Given the description of an element on the screen output the (x, y) to click on. 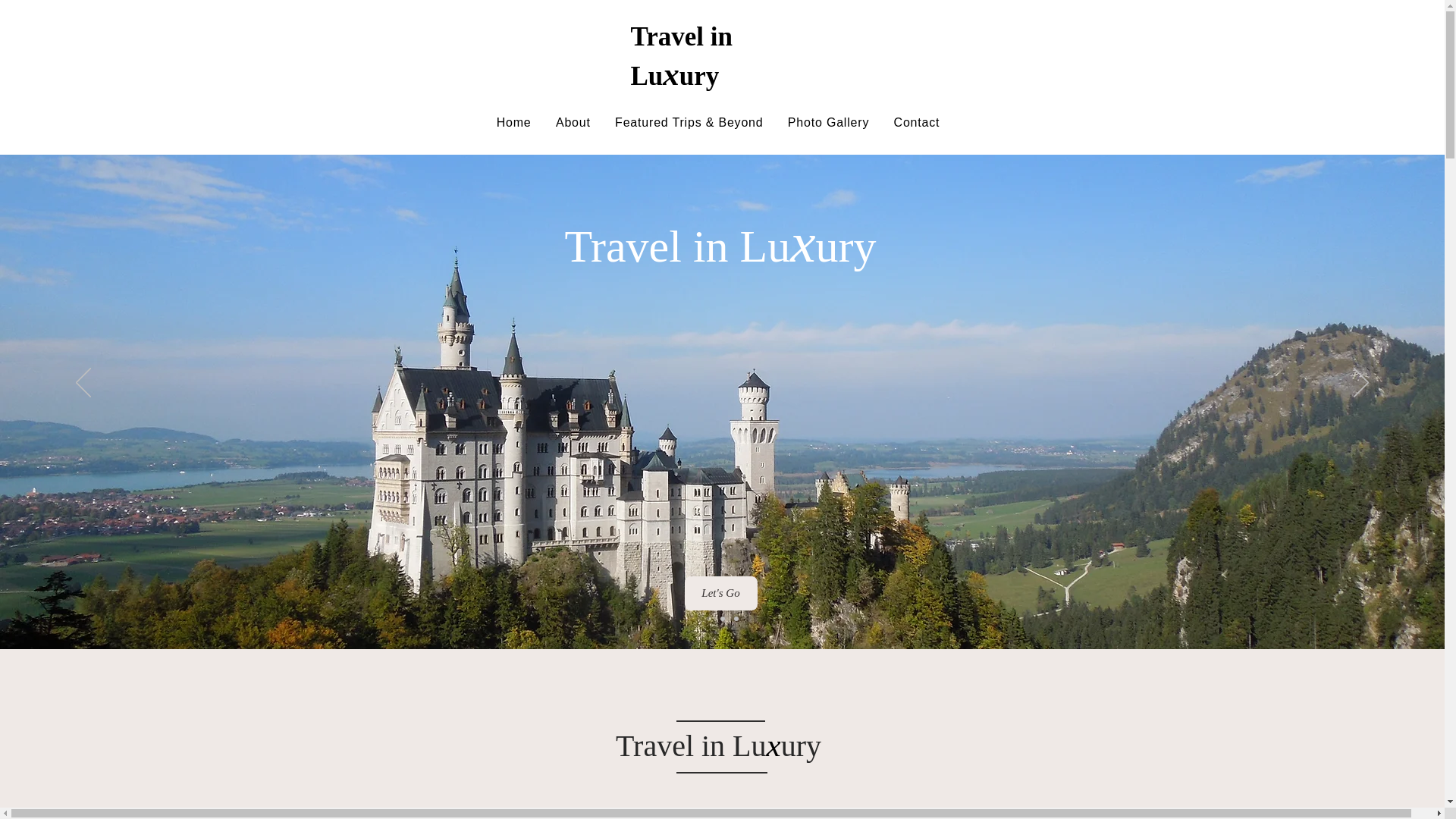
Photo Gallery (828, 122)
About (573, 122)
Let's Go (720, 593)
ury (699, 75)
Contact (916, 122)
Home (513, 122)
Travel in Lu (681, 56)
